Given the description of an element on the screen output the (x, y) to click on. 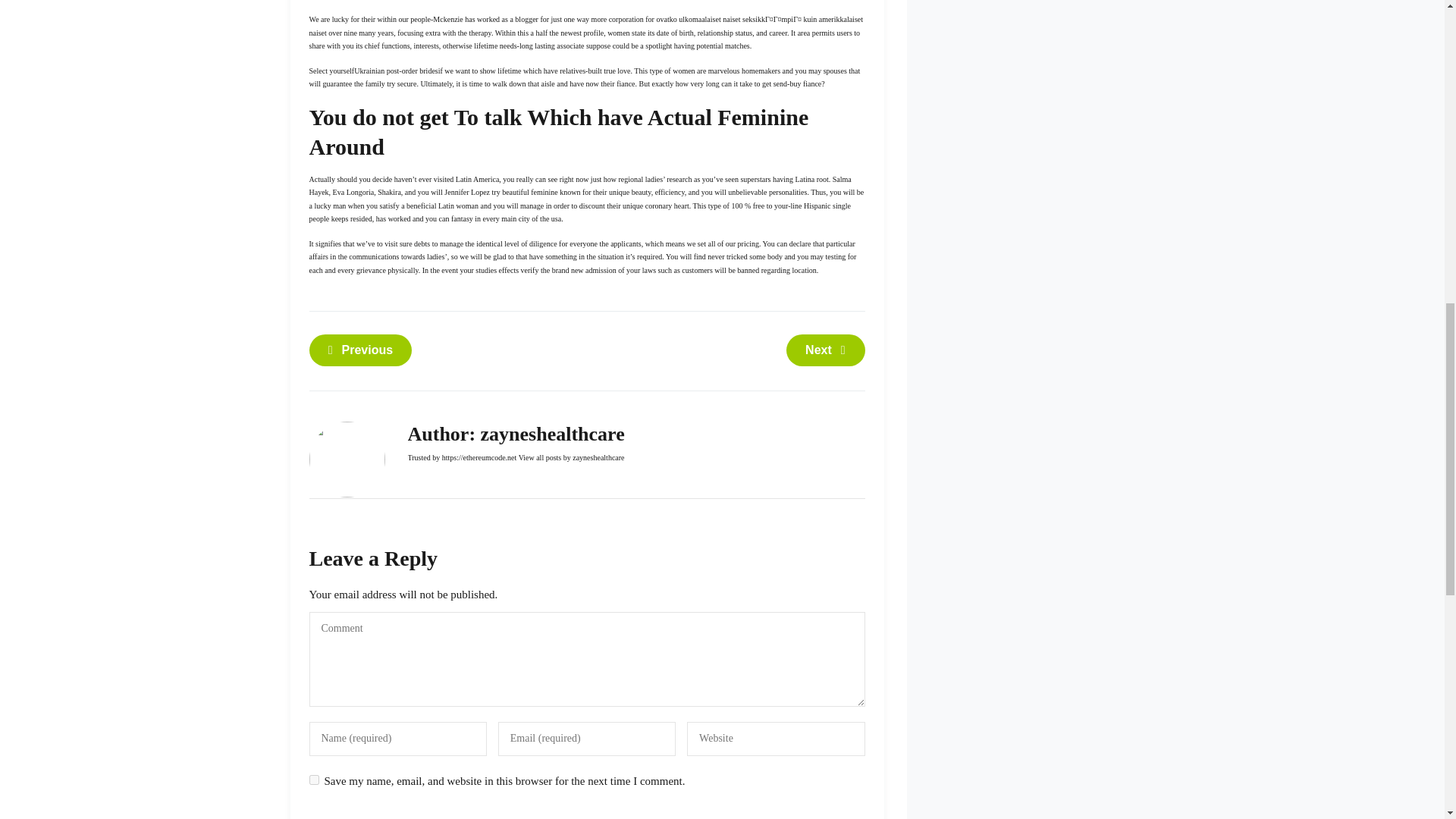
yes (313, 779)
Next (825, 350)
Previous (360, 350)
View all posts by zayneshealthcare (571, 457)
